Given the description of an element on the screen output the (x, y) to click on. 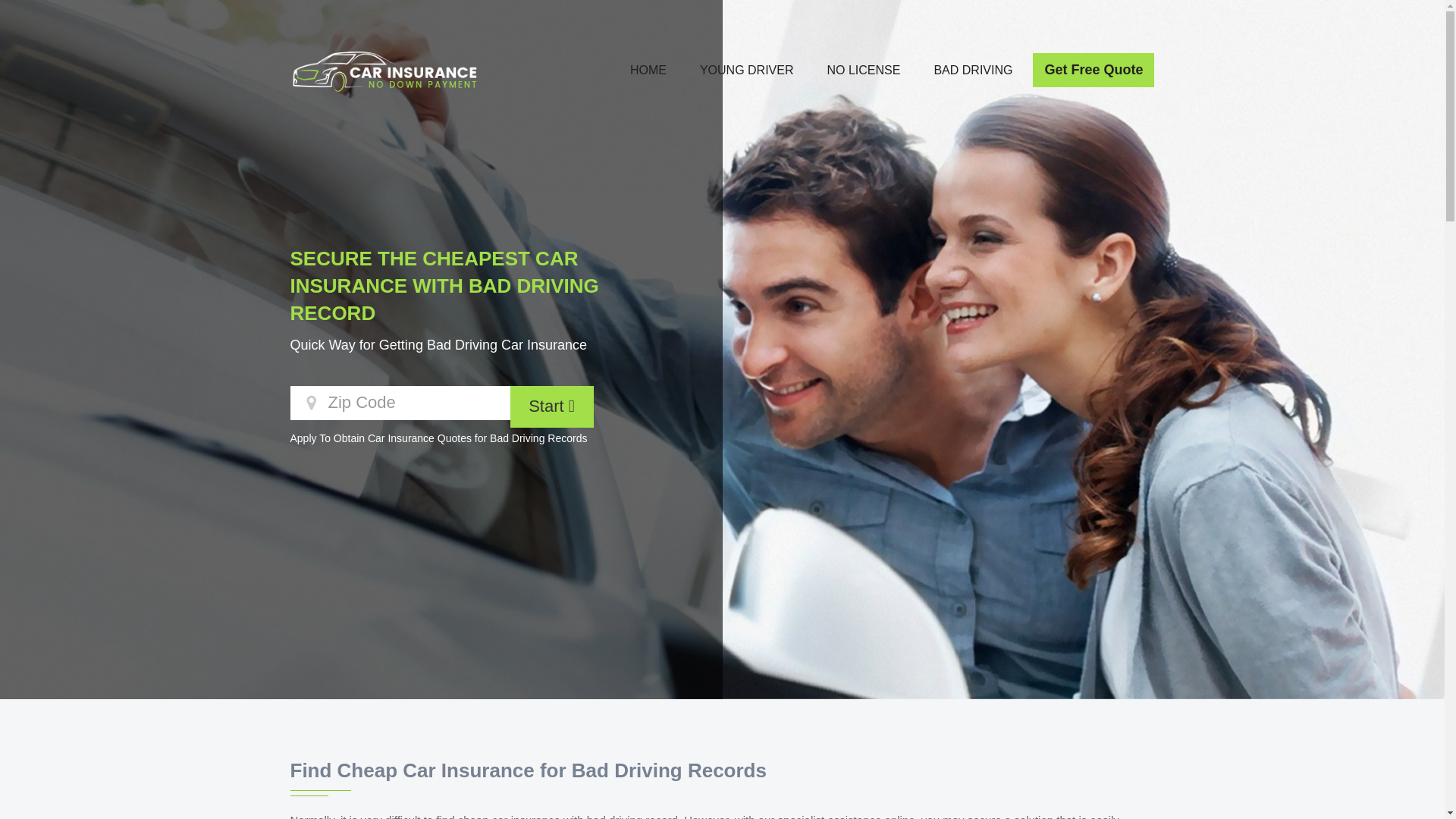
Get Free Quote (1093, 69)
NO LICENSE (864, 70)
YOUNG DRIVER (746, 70)
Start (550, 406)
BAD DRIVING (972, 70)
HOME (648, 70)
